Given the description of an element on the screen output the (x, y) to click on. 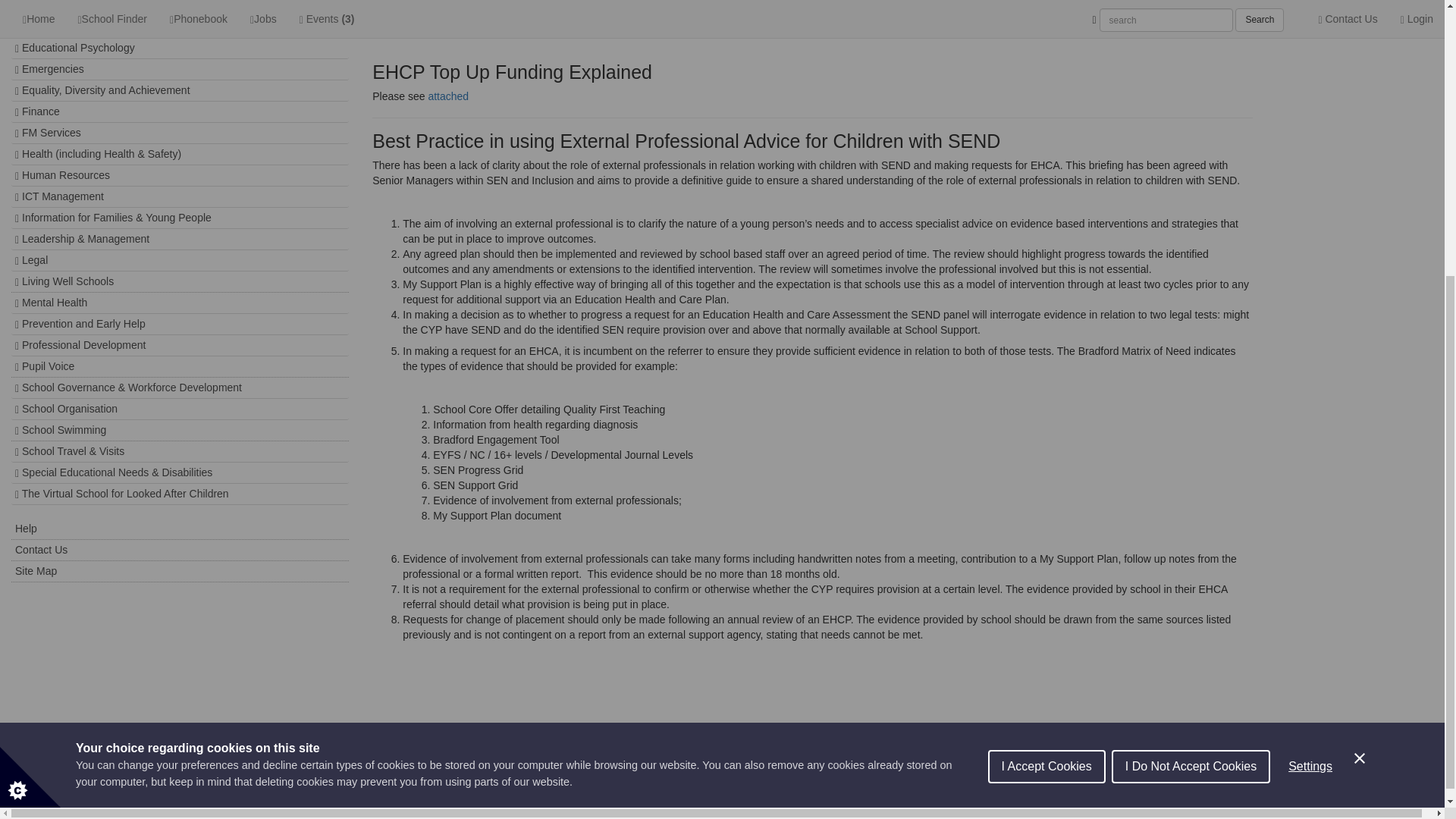
I Accept Cookies (1046, 390)
I Do Not Accept Cookies (1190, 373)
Settings (1309, 368)
